Given the description of an element on the screen output the (x, y) to click on. 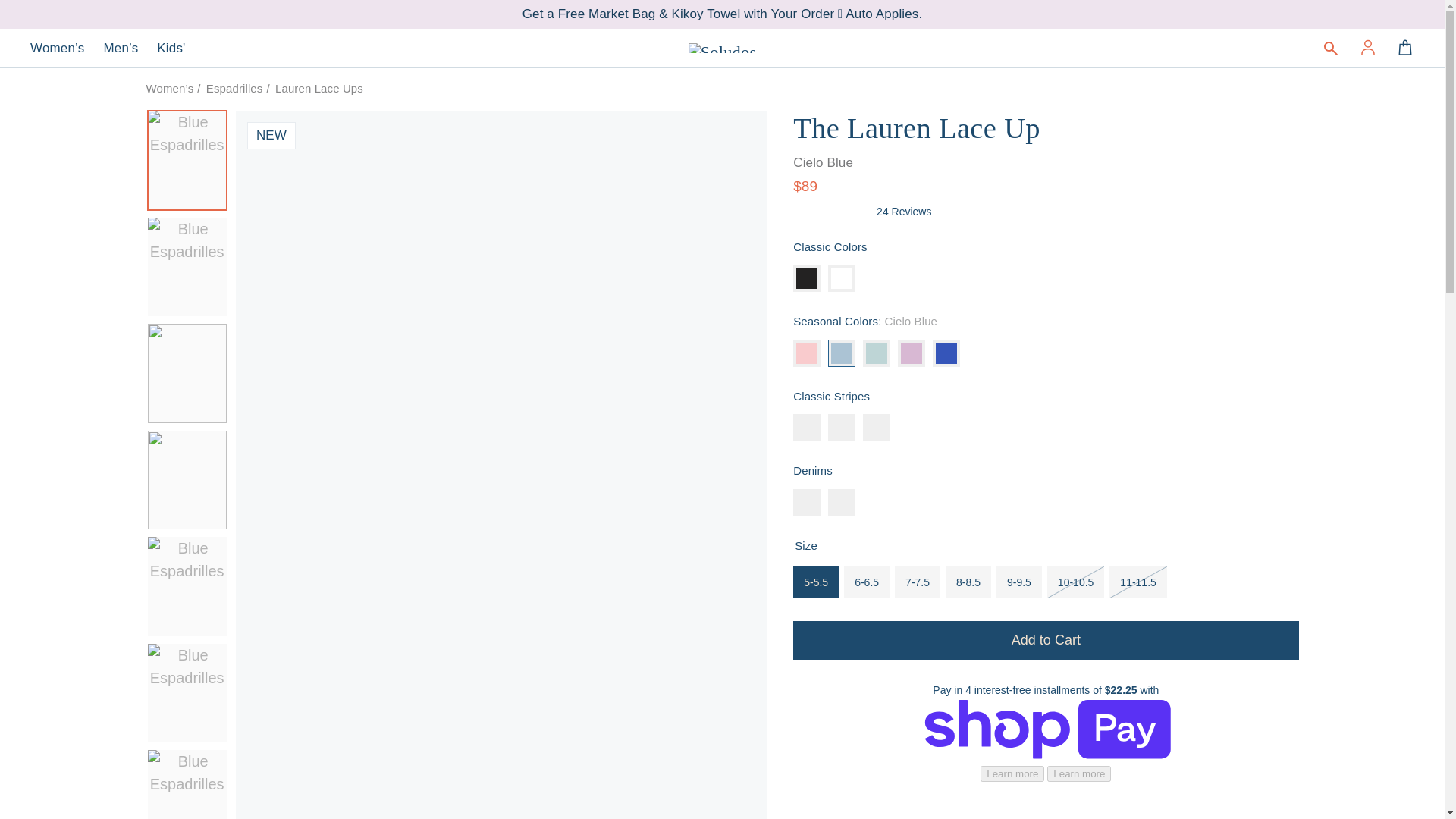
Welcome Back (1367, 48)
